Given the description of an element on the screen output the (x, y) to click on. 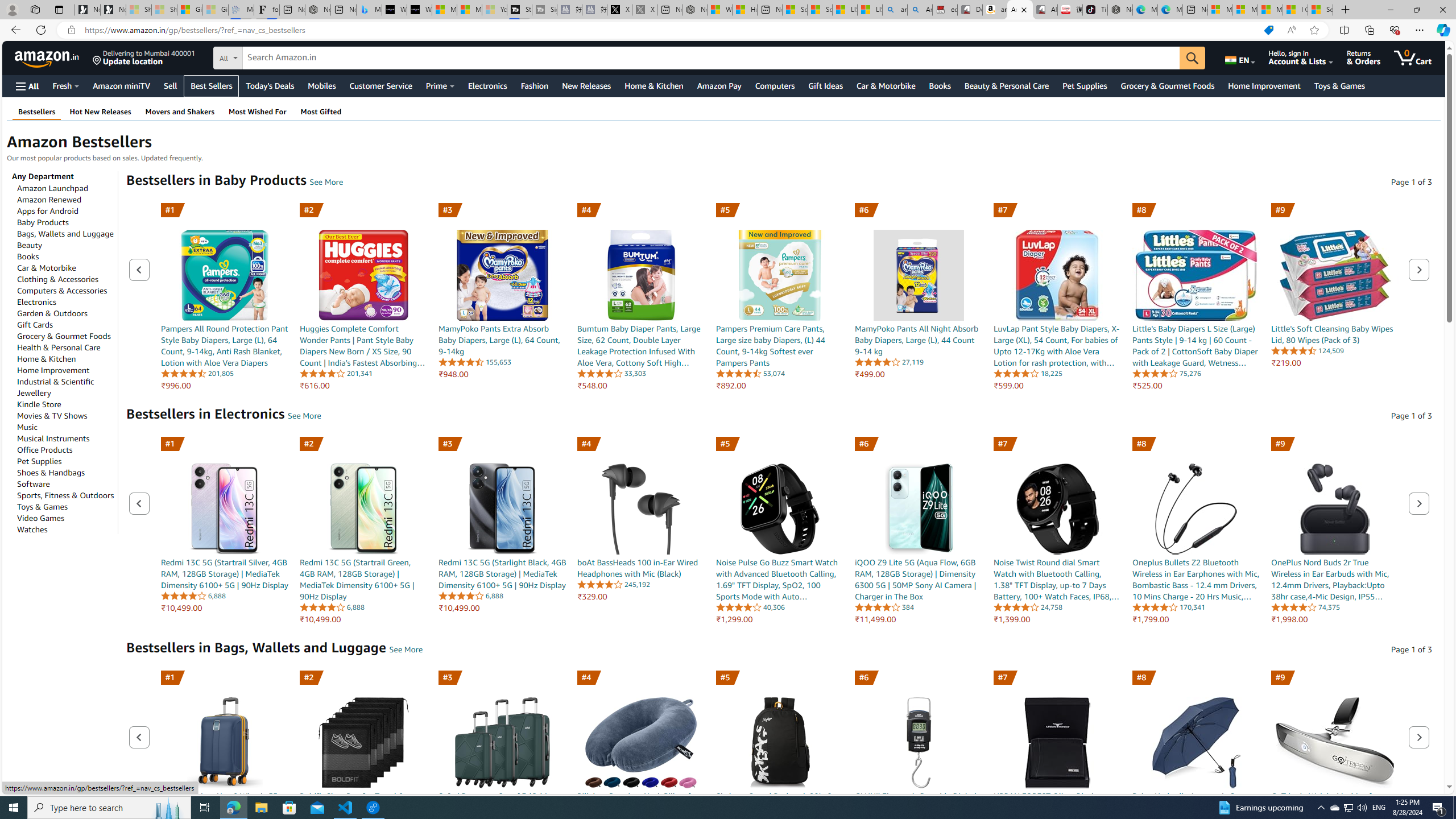
Amazon Renewed (49, 199)
Beauty & Personal Care (1005, 85)
Streaming Coverage | T3 (519, 9)
Mobiles (322, 85)
Bestsellers in Baby Products - See More (325, 181)
I Gained 20 Pounds of Muscle in 30 Days! | Watch (1295, 9)
